Given the description of an element on the screen output the (x, y) to click on. 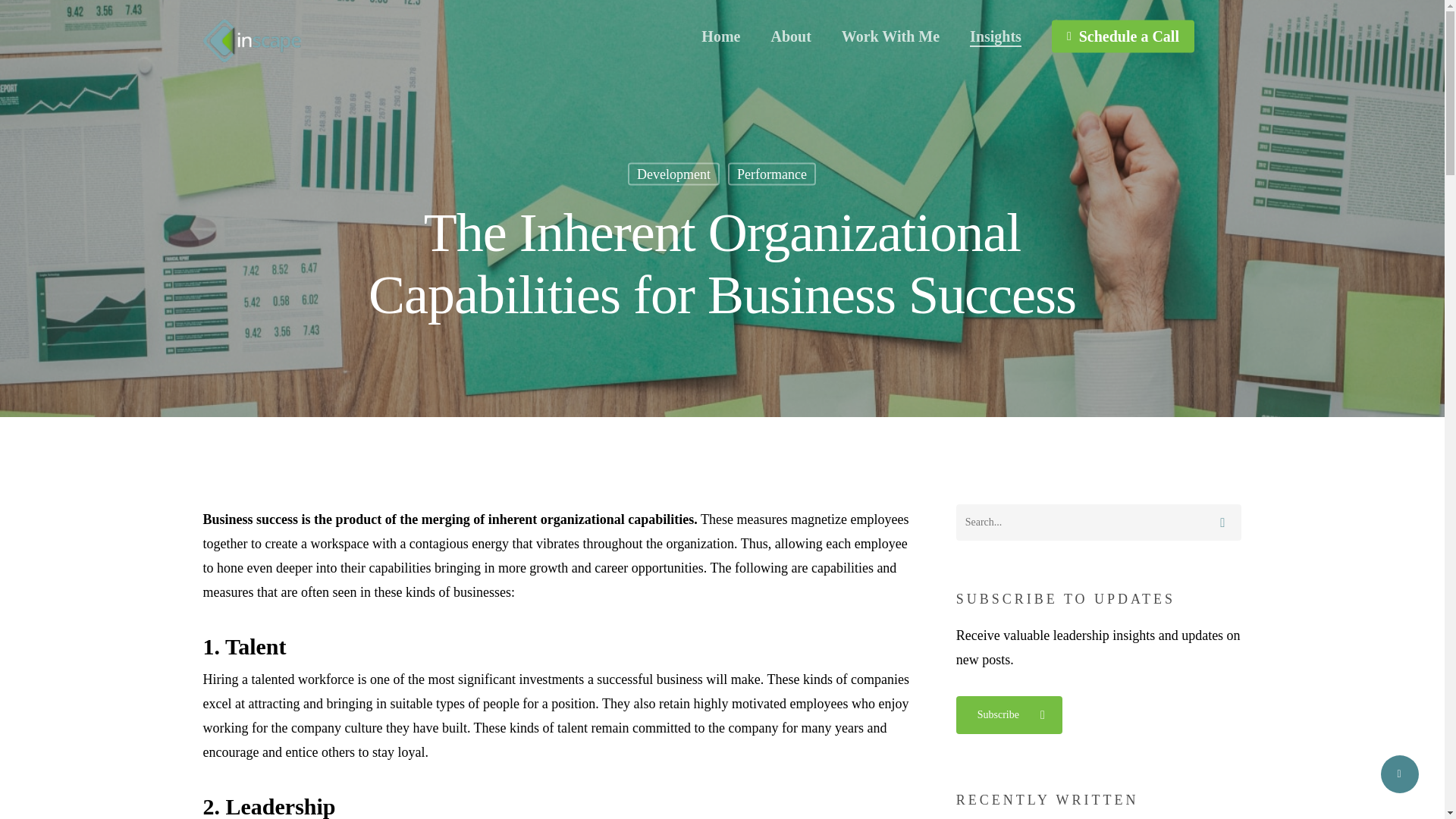
Subscribe (1009, 714)
Development (673, 173)
Home (720, 36)
Work With Me (890, 36)
Insights (995, 36)
Search for: (1098, 522)
Schedule a Call (1122, 36)
Performance (771, 173)
About (790, 36)
